Given the description of an element on the screen output the (x, y) to click on. 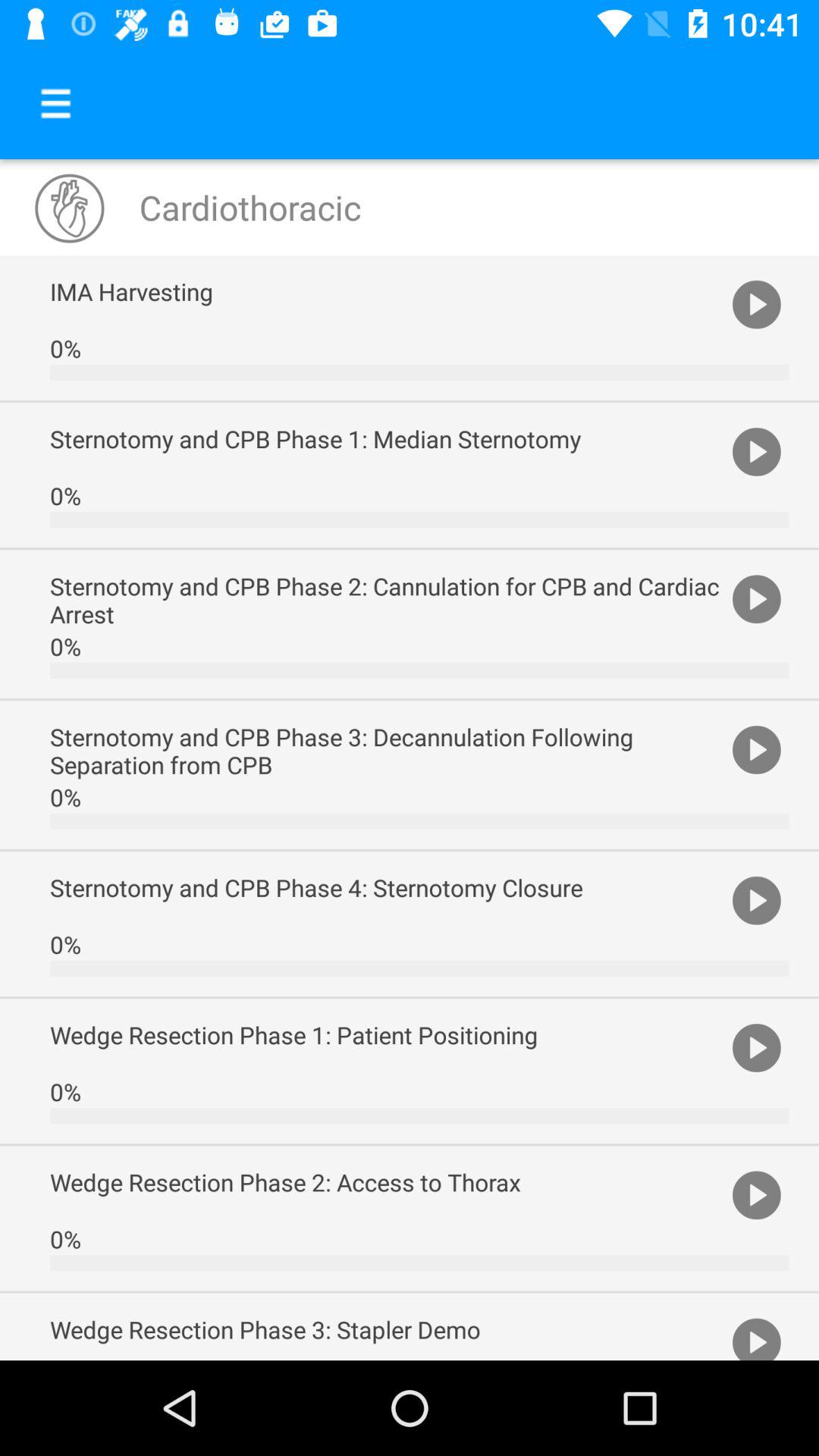
select icon to the right of wedge resection phase (756, 1193)
